Given the description of an element on the screen output the (x, y) to click on. 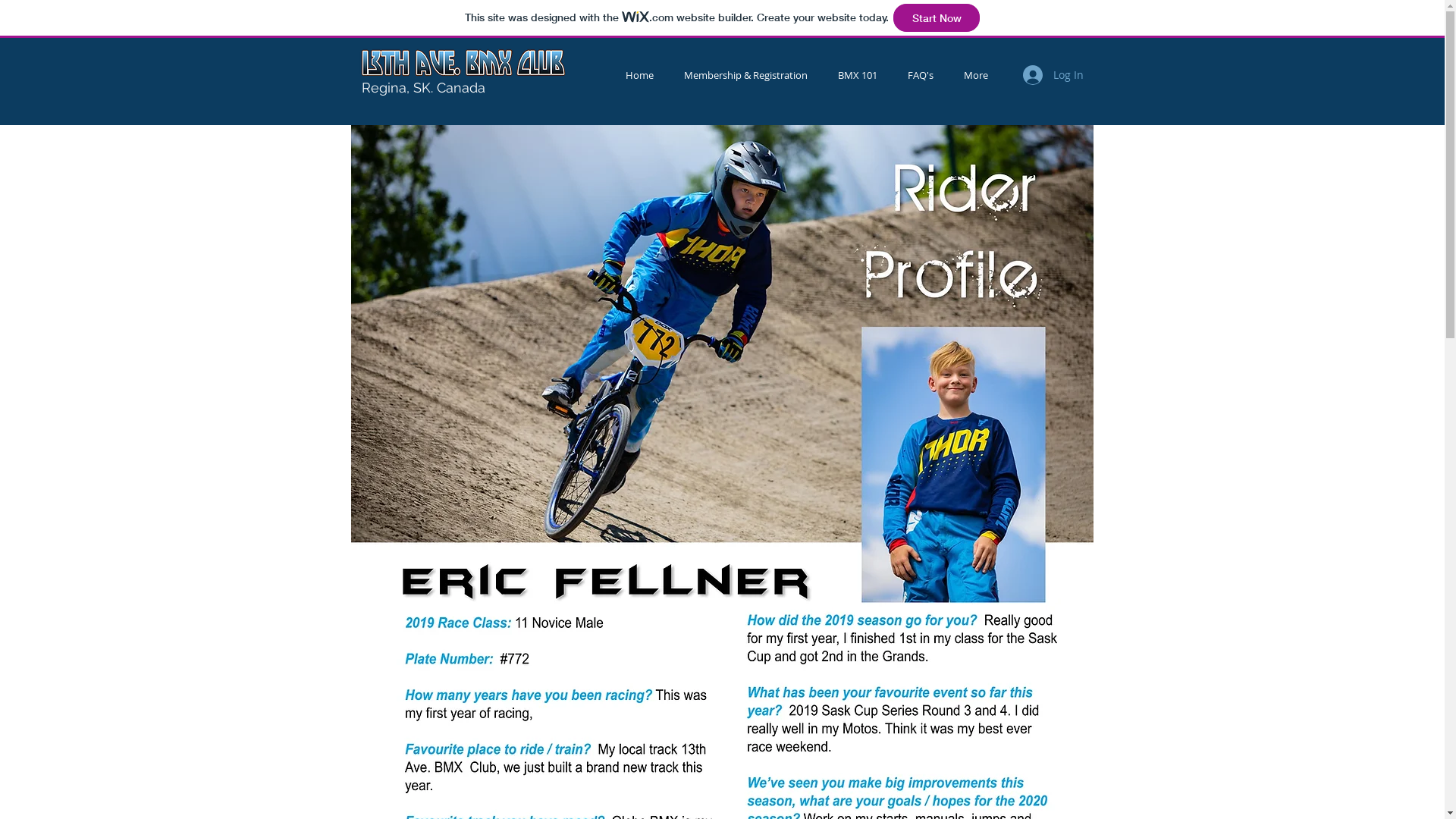
BMX 101 Element type: text (856, 75)
Home Element type: text (638, 75)
FAQ's Element type: text (919, 75)
Membership & Registration Element type: text (745, 75)
Log In Element type: text (1052, 74)
